Given the description of an element on the screen output the (x, y) to click on. 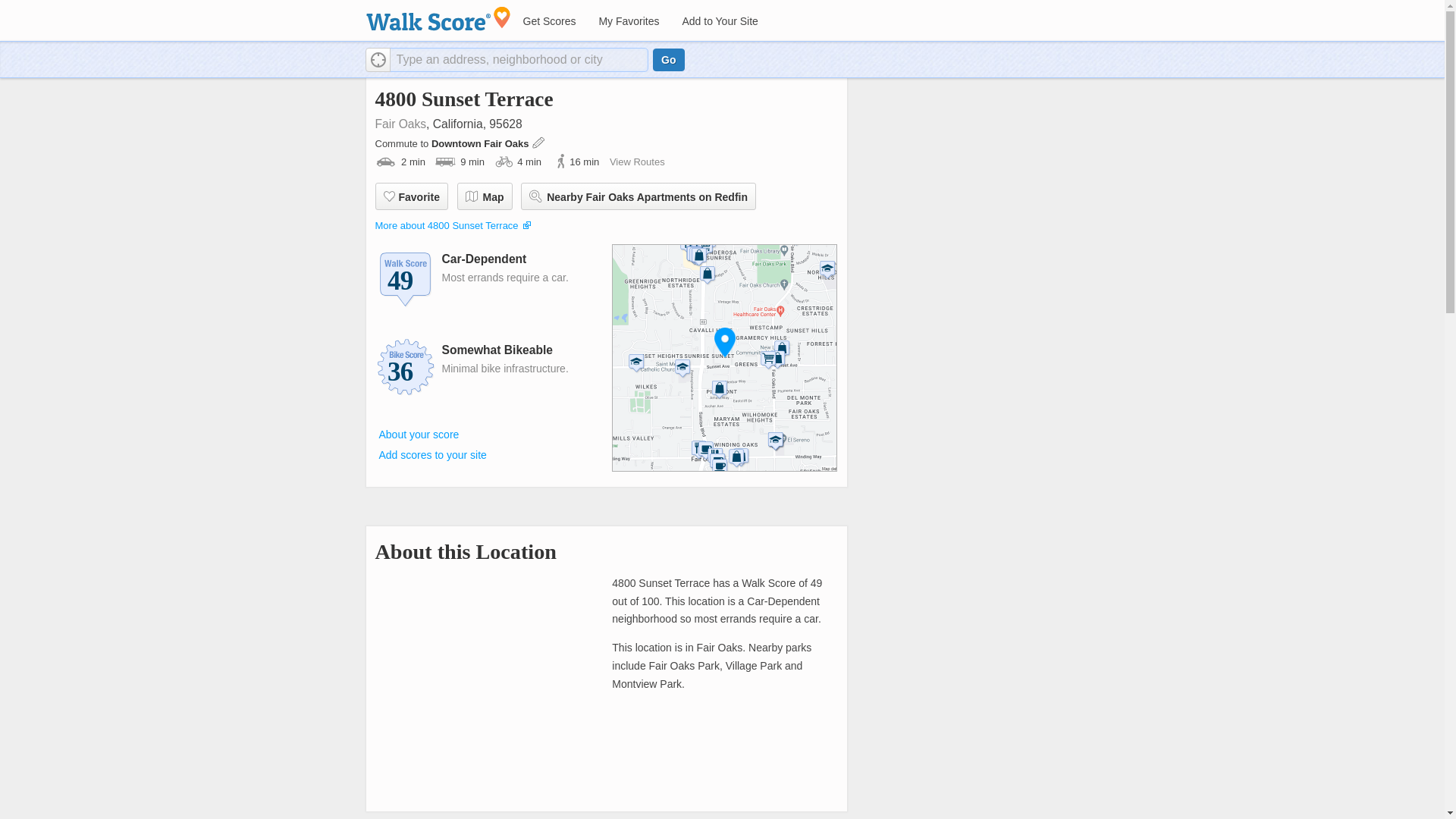
More about 4800 Sunset Terrace (446, 225)
My Favorites (628, 21)
View Routes (637, 161)
Add scores to your site (432, 454)
Nearby Fair Oaks Apartments on Redfin (638, 195)
About your score (419, 434)
Fair Oaks (400, 123)
Favorite (410, 195)
Go (668, 59)
Add to Your Site (719, 21)
